Given the description of an element on the screen output the (x, y) to click on. 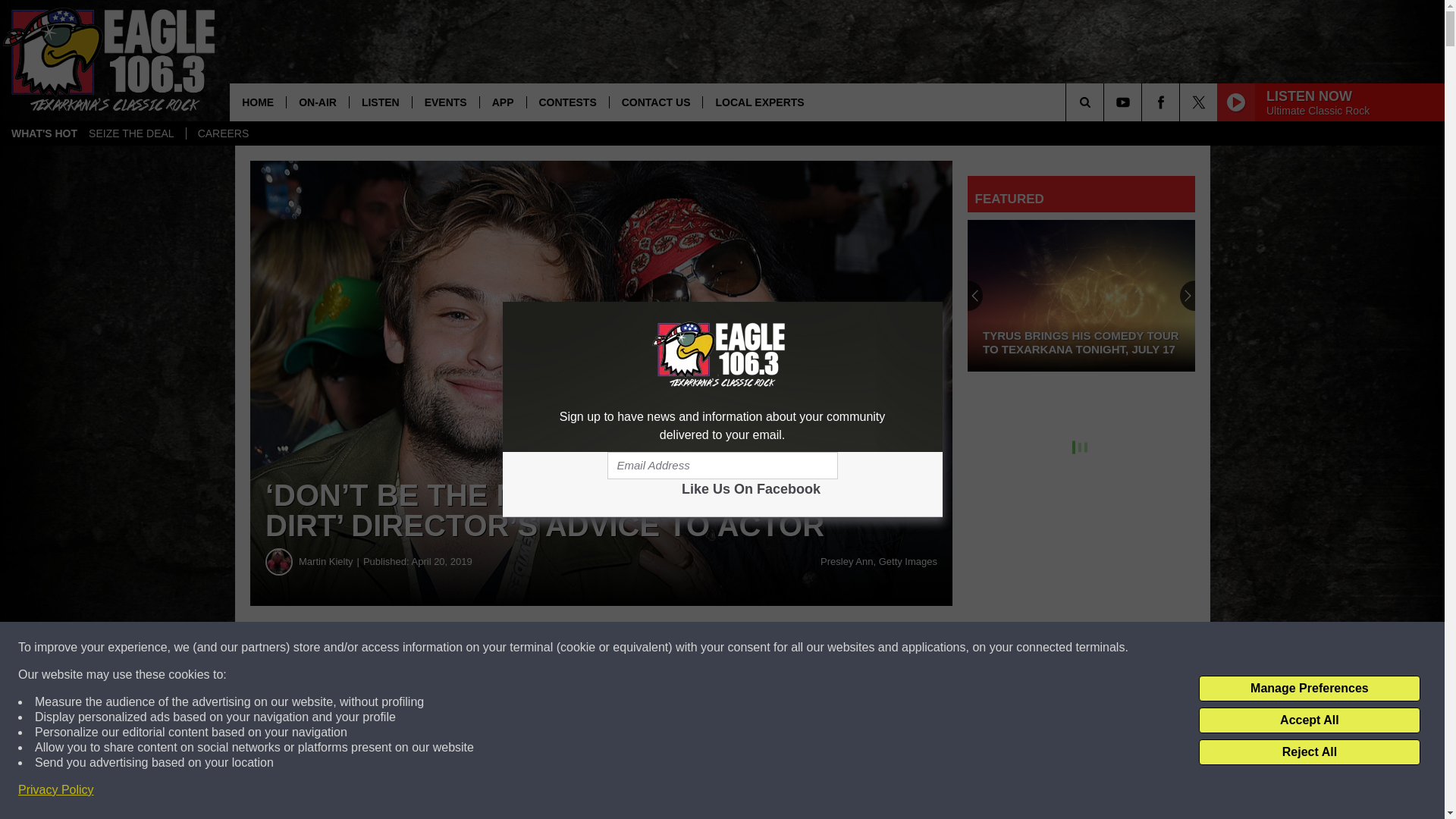
ON-AIR (317, 102)
LISTEN (380, 102)
Privacy Policy (55, 789)
Share on Twitter (741, 647)
Manage Preferences (1309, 688)
Reject All (1309, 751)
HOME (257, 102)
EVENTS (445, 102)
Accept All (1309, 720)
LOCAL EXPERTS (758, 102)
CONTACT US (655, 102)
CONTESTS (566, 102)
SEIZE THE DEAL (131, 133)
SEARCH (1106, 102)
SEARCH (1106, 102)
